Given the description of an element on the screen output the (x, y) to click on. 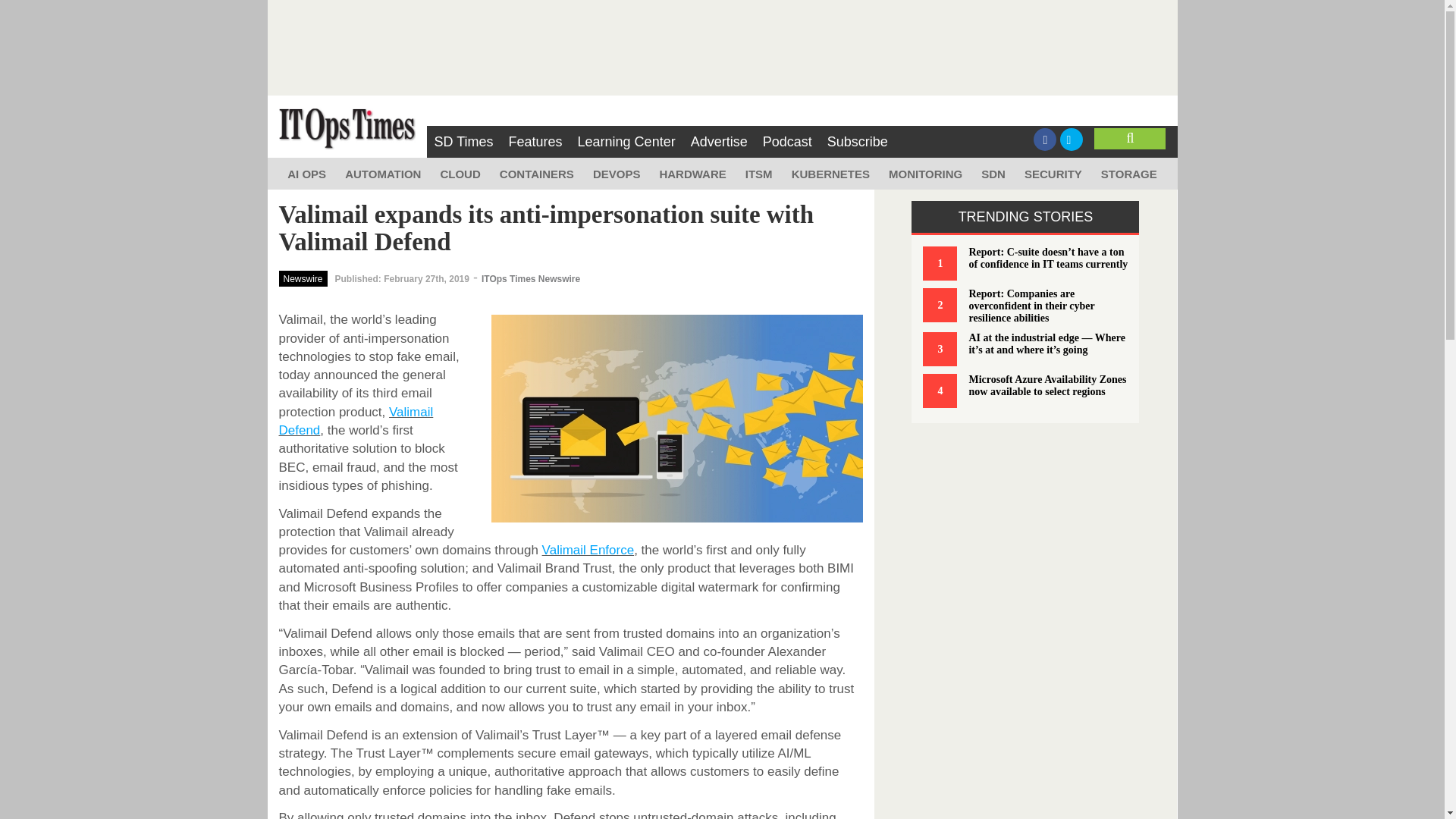
Podcast (787, 142)
Features (535, 142)
Learning Center (626, 142)
SD Times (463, 142)
Advertise (718, 142)
Subscribe (857, 142)
